Given the description of an element on the screen output the (x, y) to click on. 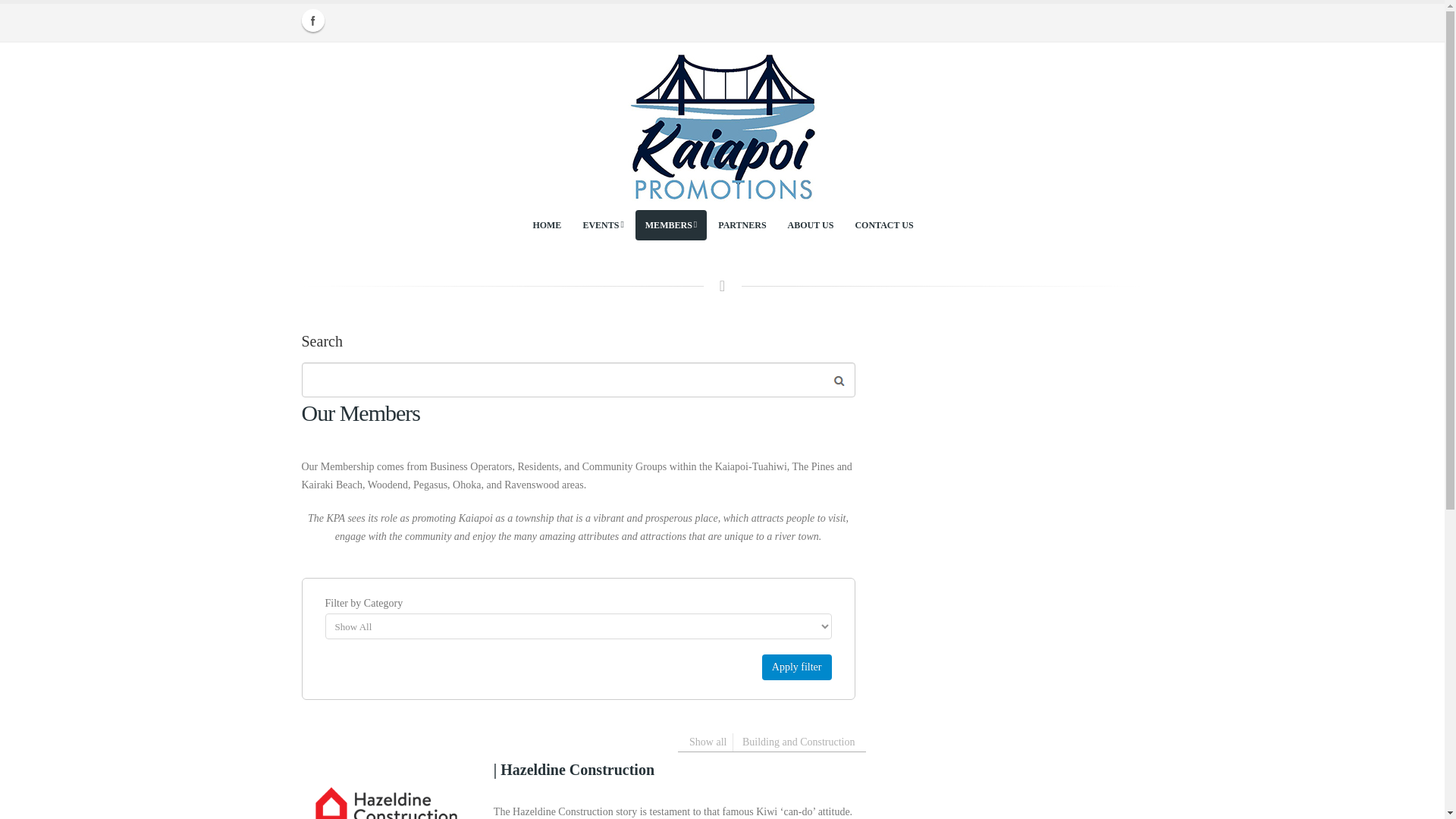
Apply filter (796, 667)
Facebook Icon (312, 20)
CONTACT US (883, 224)
ABOUT US (810, 224)
Kaiapoi Promotion Association (721, 124)
PARTNERS (741, 224)
Show all (707, 741)
EVENTS (602, 224)
Search (838, 380)
Facebook (312, 20)
Search (838, 380)
Building and Construction (799, 741)
MEMBERS (670, 224)
HOME (546, 224)
Apply filter (796, 667)
